Given the description of an element on the screen output the (x, y) to click on. 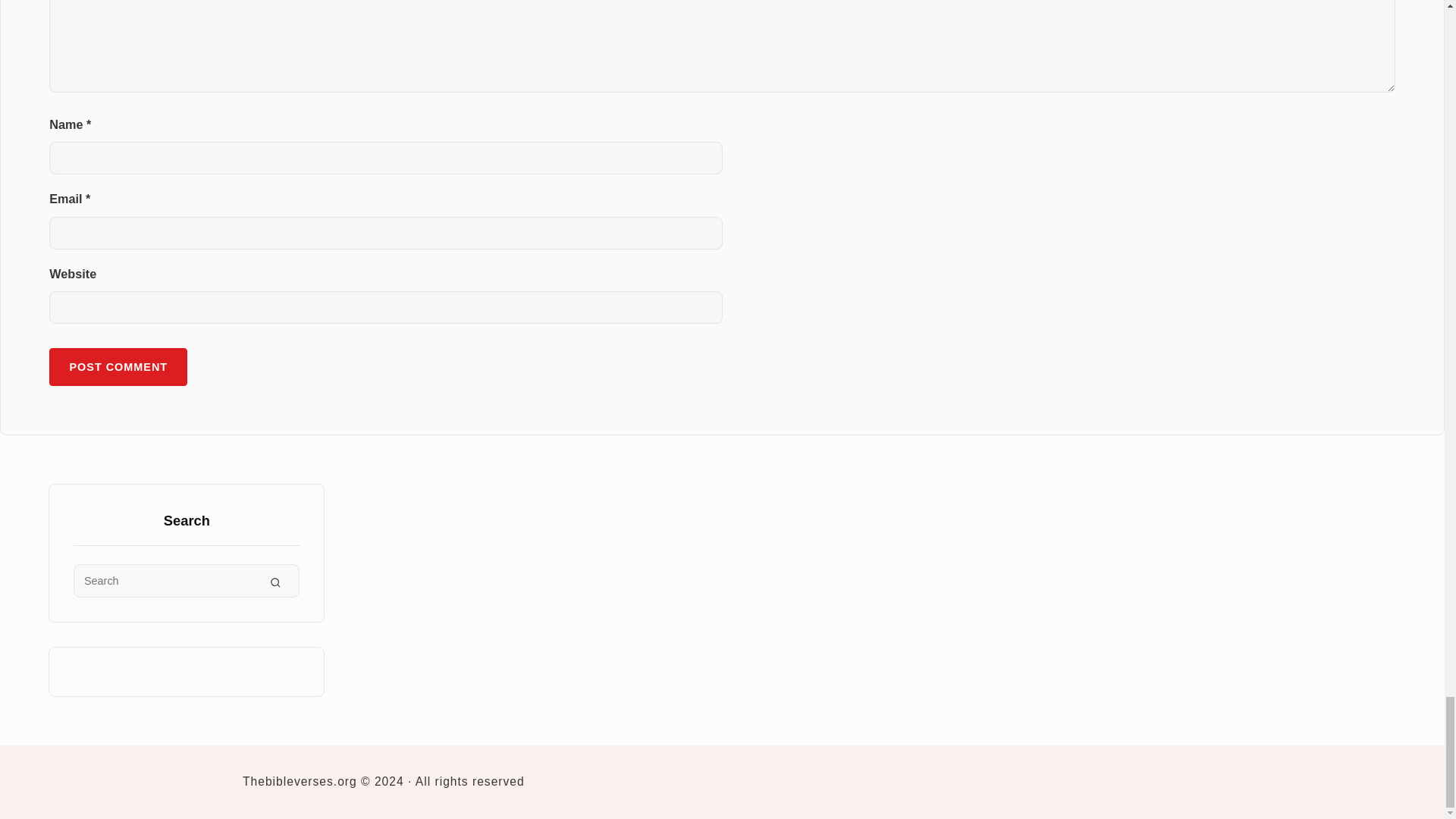
Search for: (186, 580)
SEARCH (274, 580)
Post Comment (118, 366)
Post Comment (118, 366)
